Given the description of an element on the screen output the (x, y) to click on. 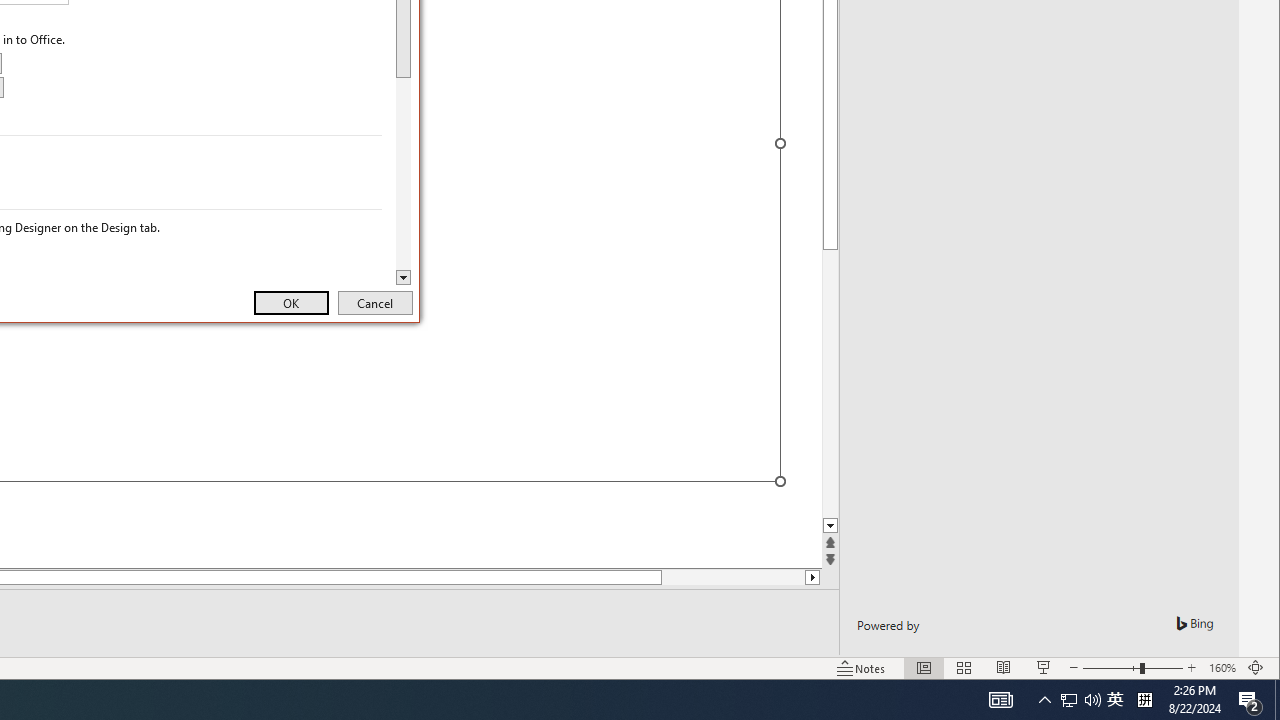
Zoom 160% (1222, 668)
Cancel (375, 302)
